Given the description of an element on the screen output the (x, y) to click on. 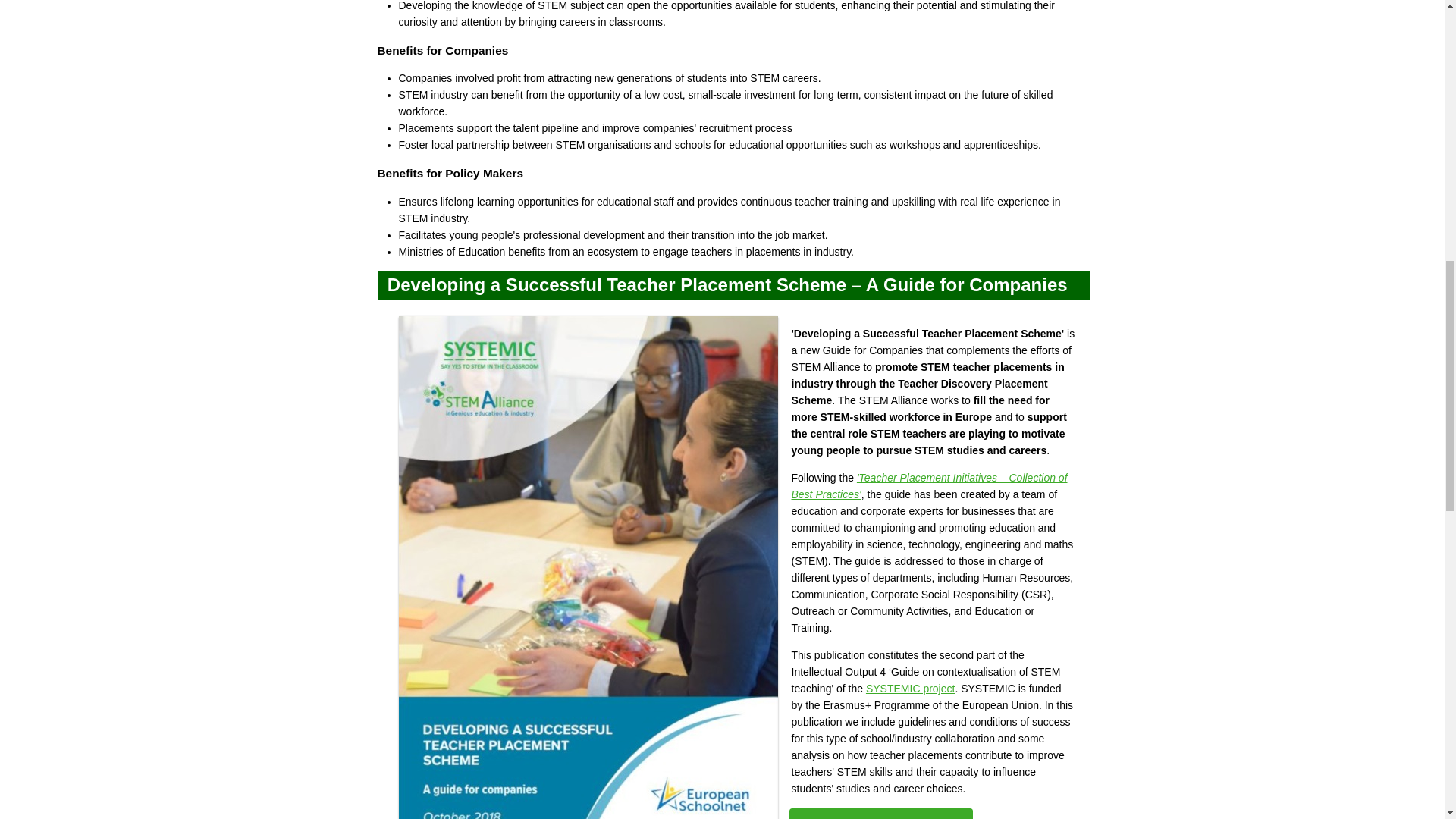
SYSTEMIC project (910, 688)
DOWNLOAD THIS BOOKLET HERE (880, 813)
